Given the description of an element on the screen output the (x, y) to click on. 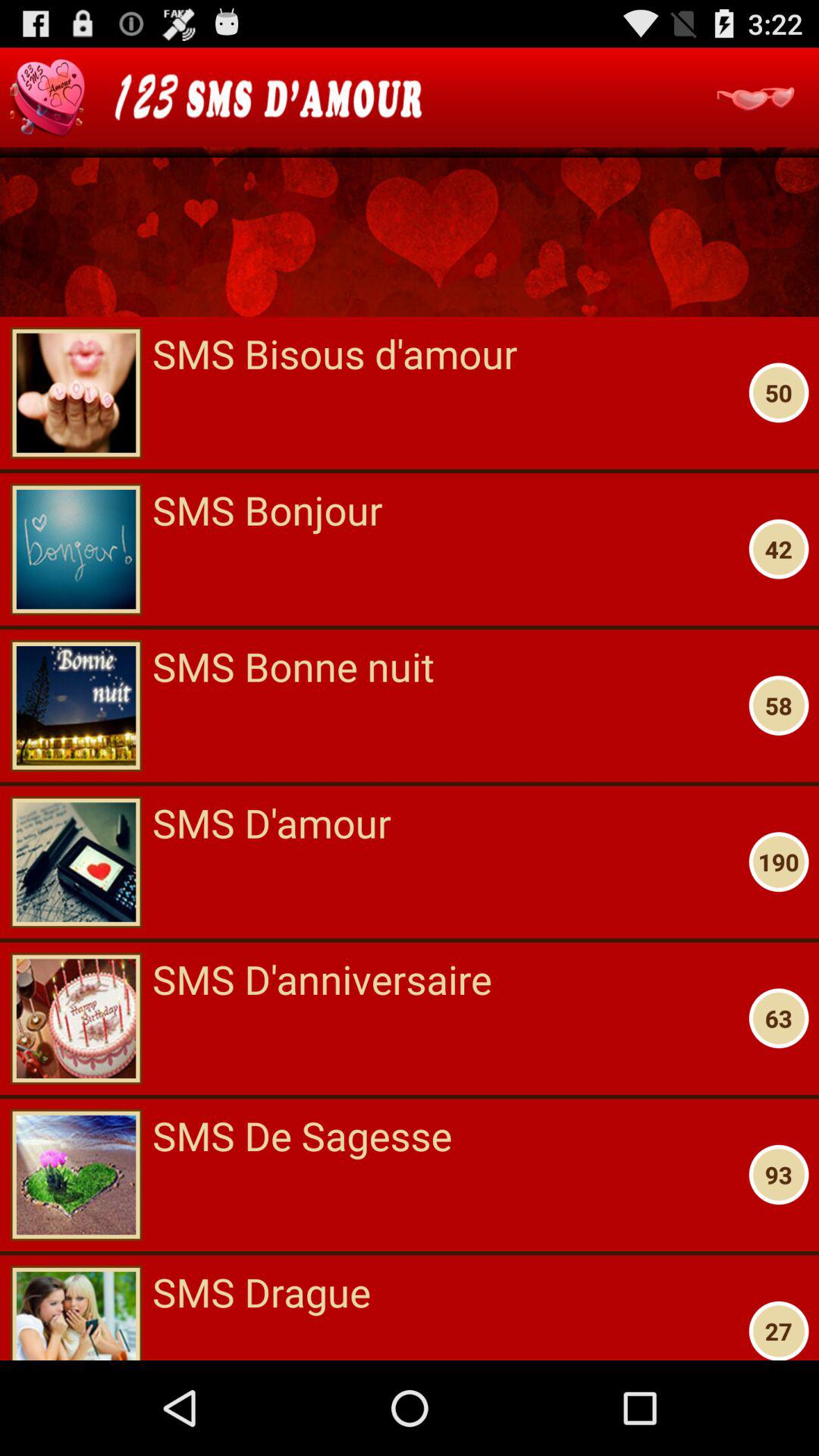
go to messages (755, 97)
